Given the description of an element on the screen output the (x, y) to click on. 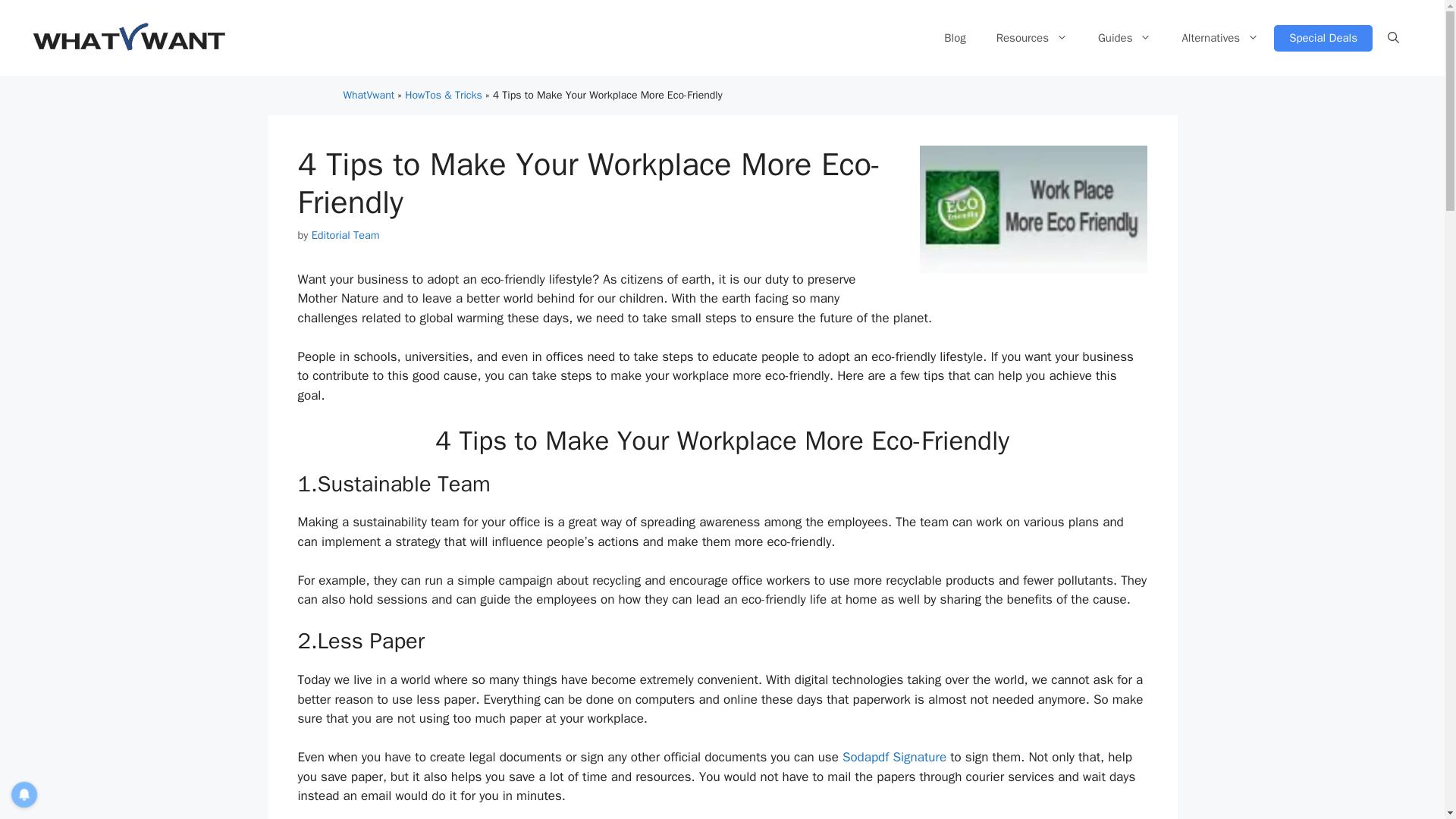
Alternatives (1220, 37)
View all posts by Editorial Team (345, 234)
Guides (1125, 37)
Resources (1032, 37)
Special Deals (1323, 37)
Blog (953, 37)
